Given the description of an element on the screen output the (x, y) to click on. 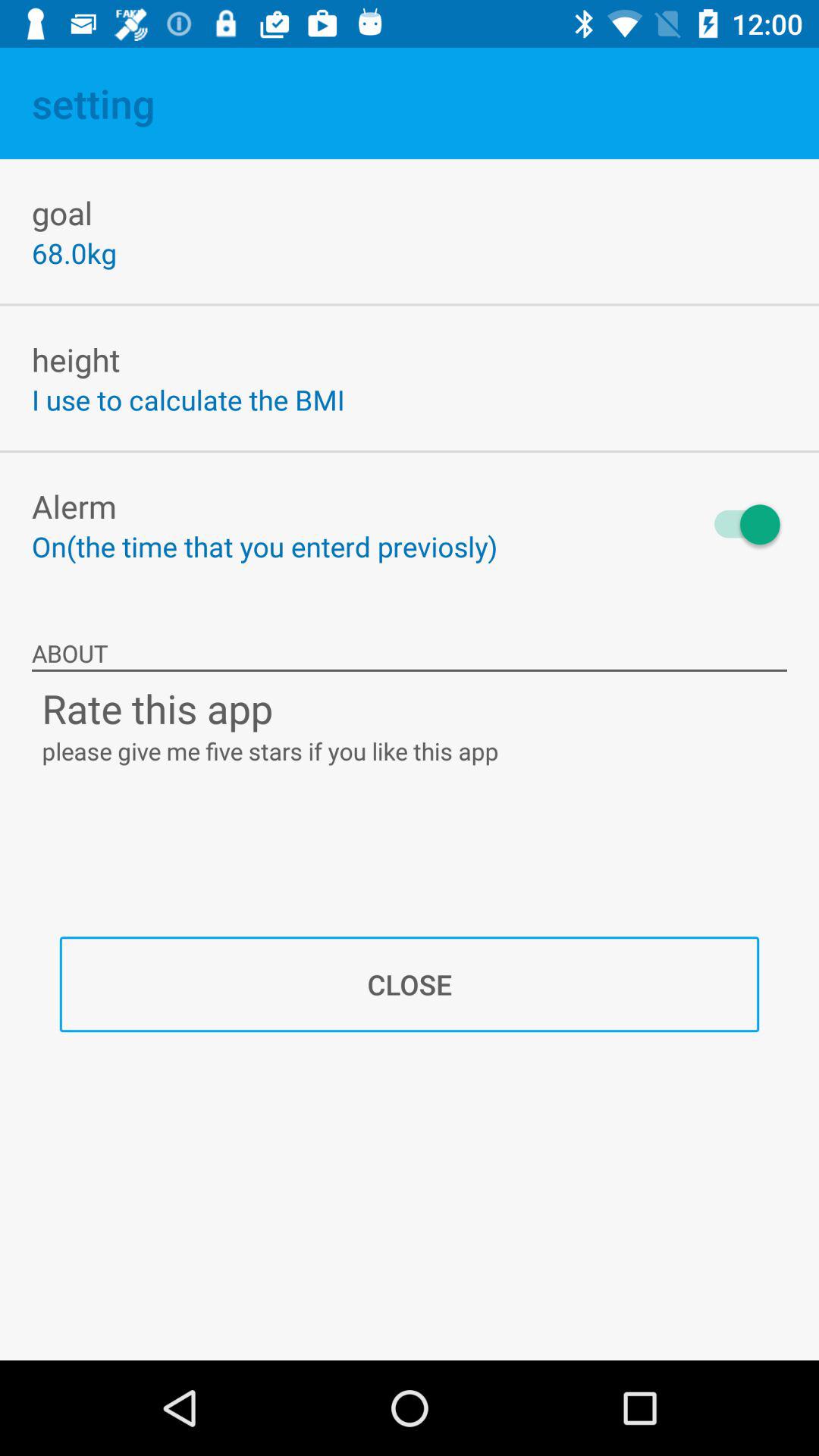
launch close (409, 984)
